Given the description of an element on the screen output the (x, y) to click on. 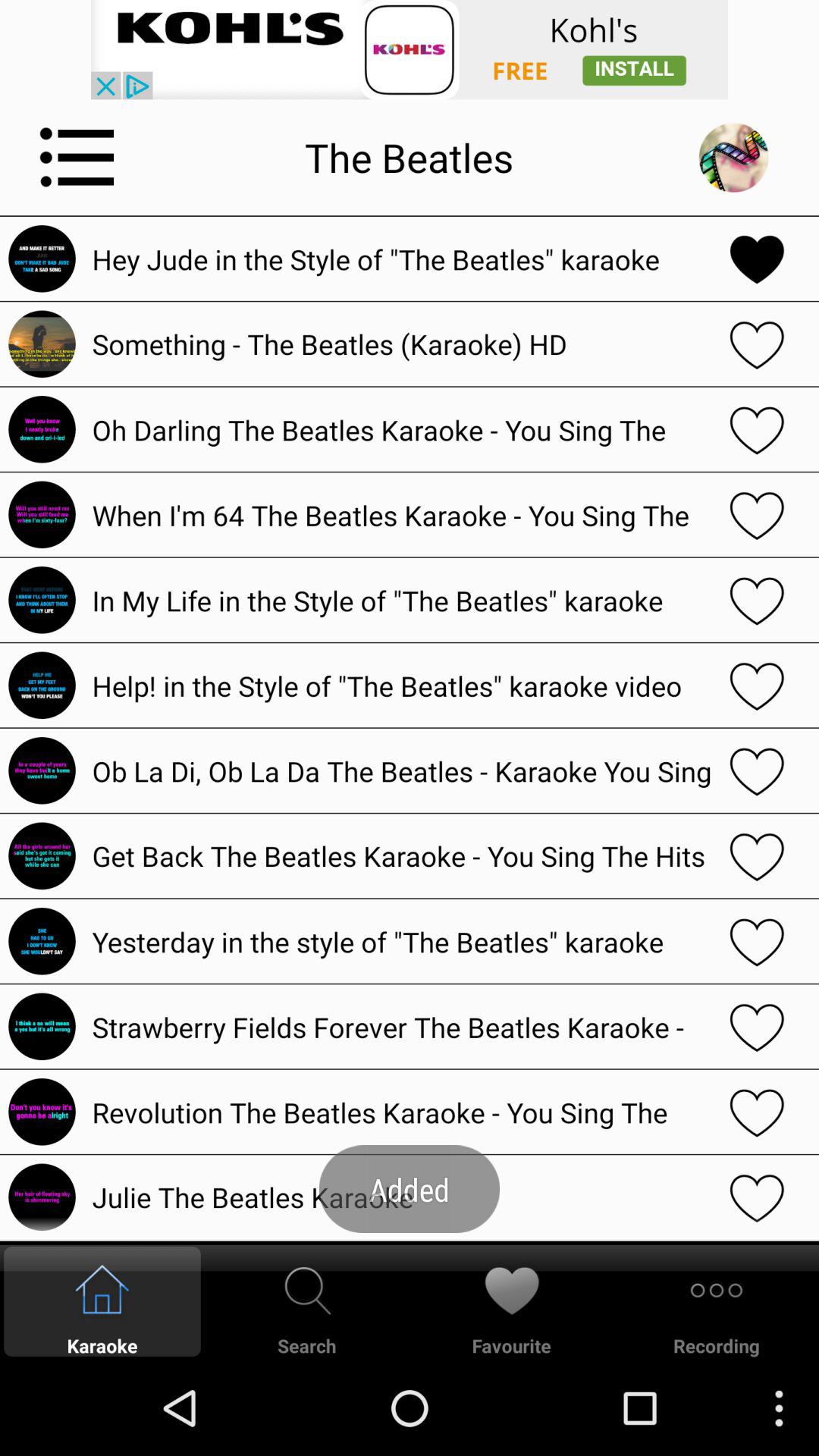
add to favorite (756, 1111)
